Given the description of an element on the screen output the (x, y) to click on. 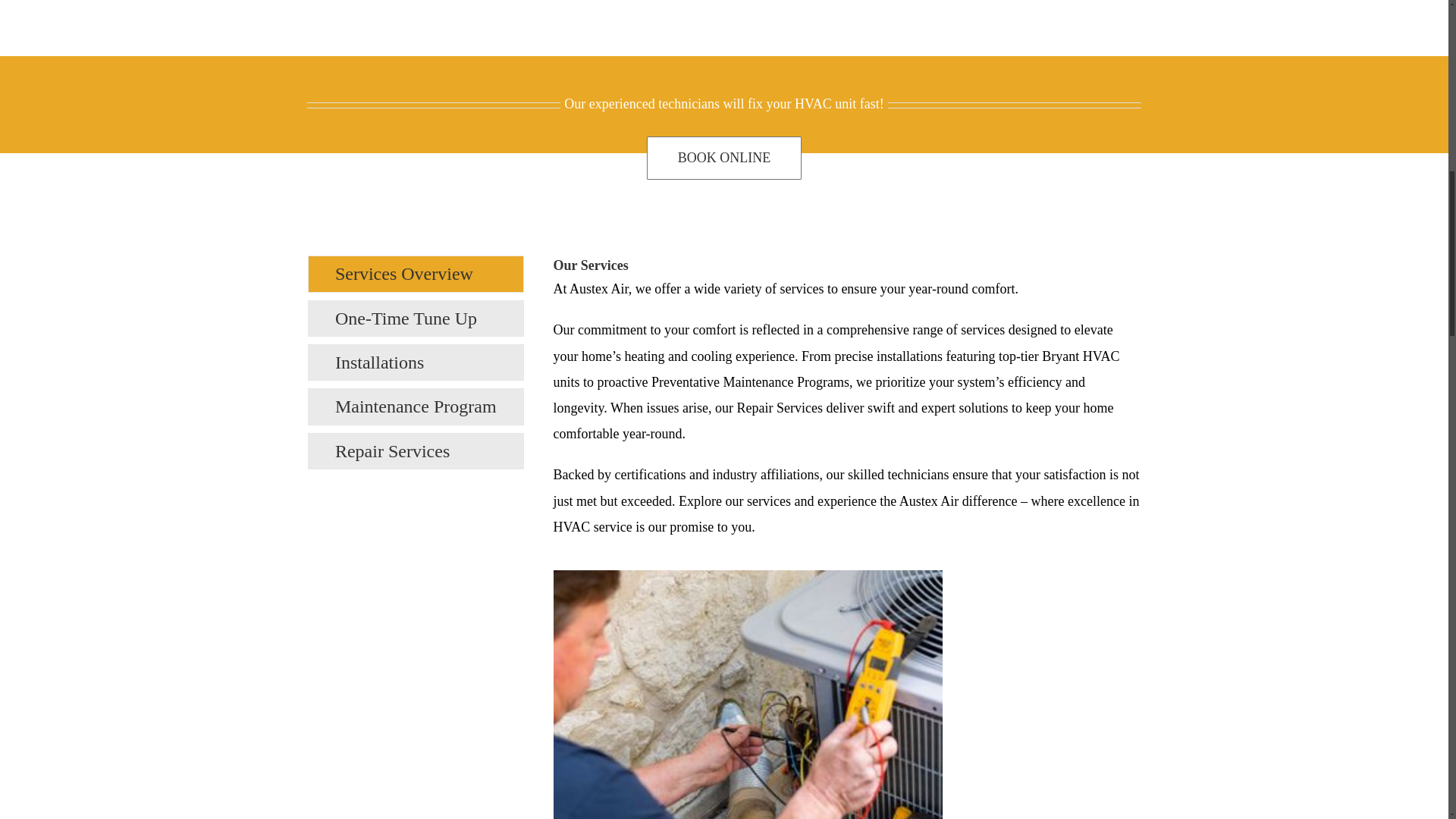
Installations (415, 361)
Services Overview (415, 273)
BOOK ONLINE (724, 157)
One-Time Tune Up (415, 318)
Repair Services (415, 451)
Maintenance Program (415, 406)
